Given the description of an element on the screen output the (x, y) to click on. 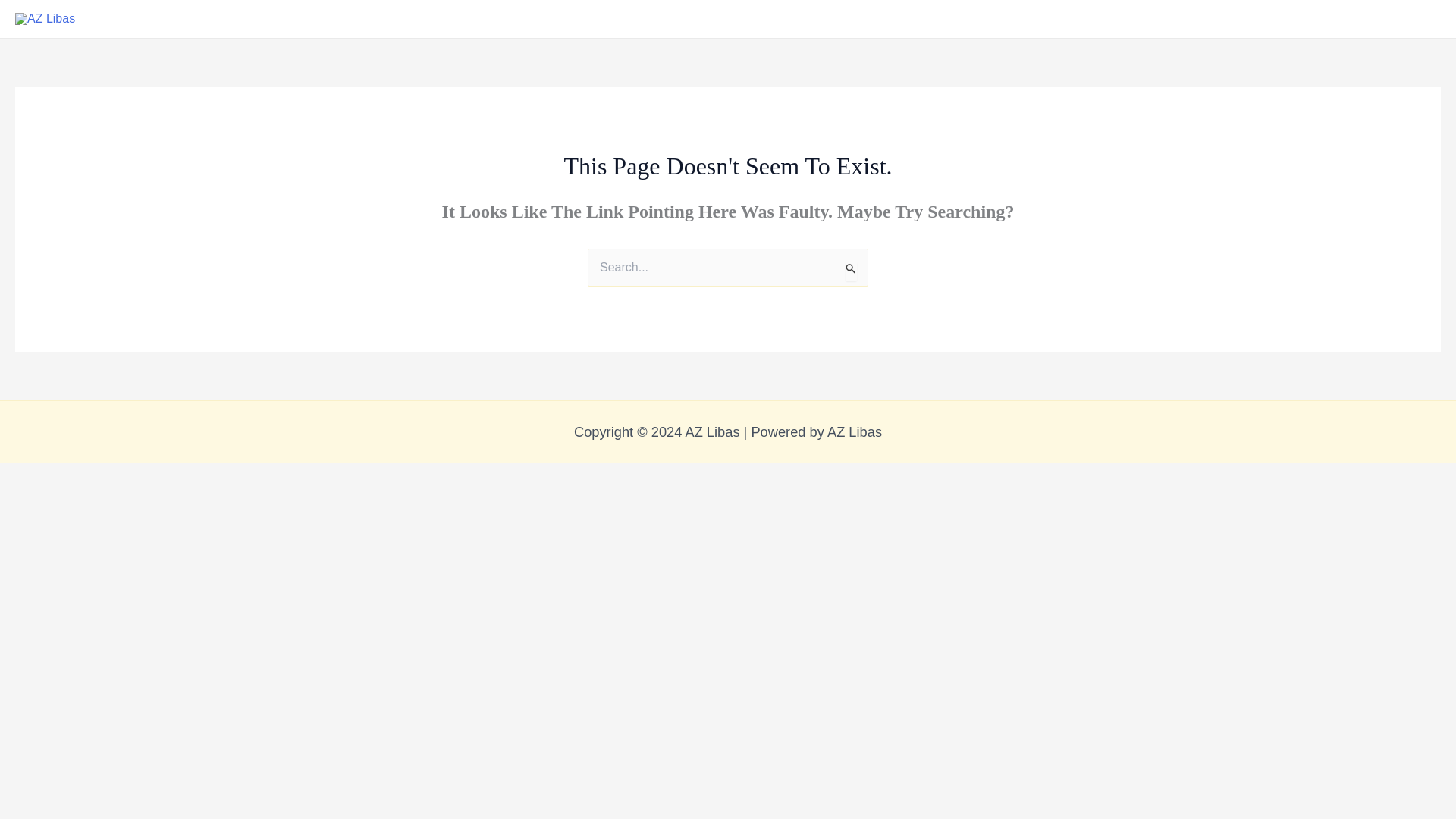
Home (581, 18)
Casual Wear (747, 18)
Search (850, 266)
Clearance Sale (848, 18)
Search (850, 266)
New Arrivals (655, 18)
Search (850, 266)
